Given the description of an element on the screen output the (x, y) to click on. 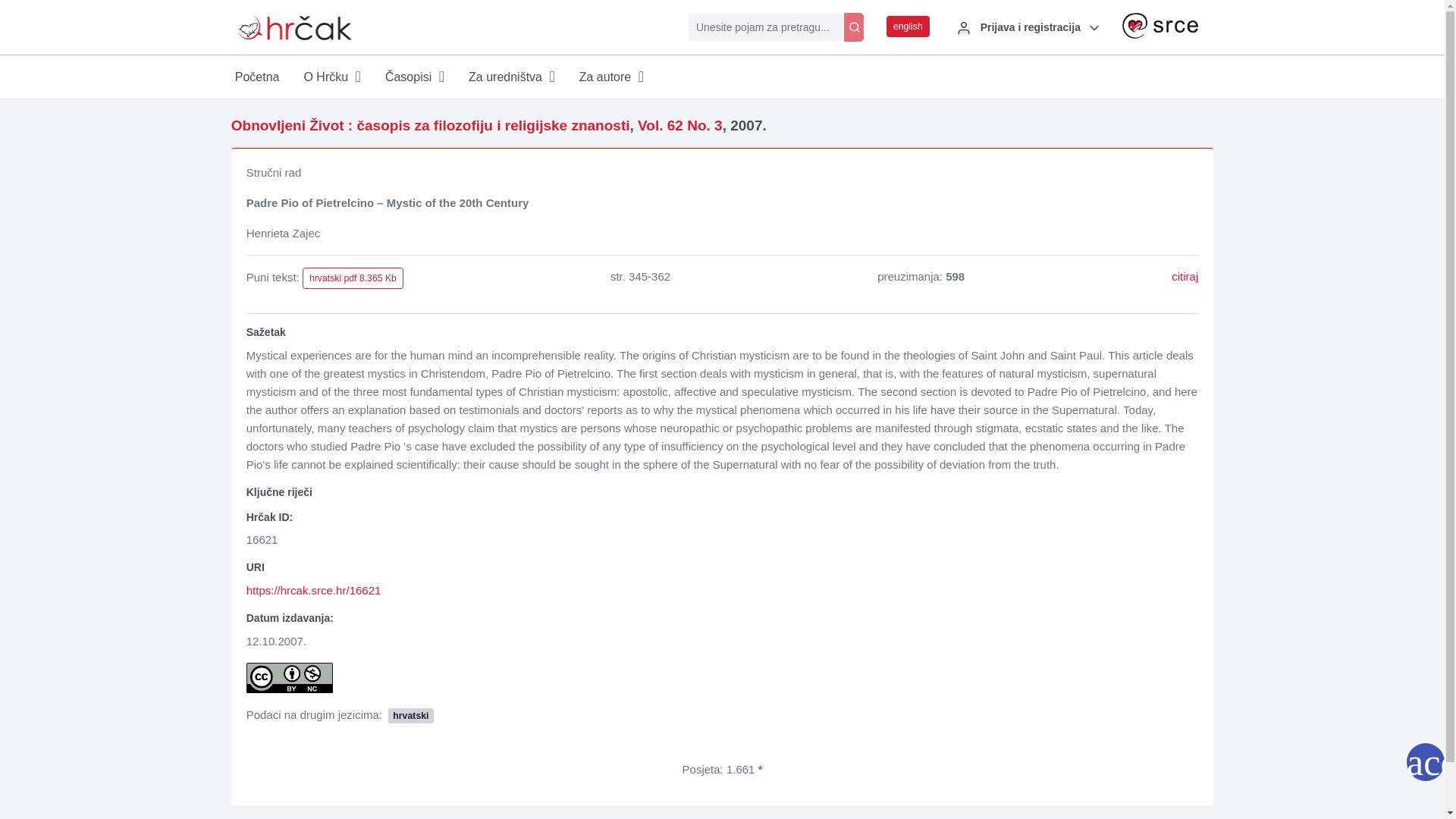
english (908, 25)
Vol. 62 No. 3 (679, 125)
Prijava i registracija (1025, 27)
Za autore (611, 76)
hrvatski pdf 8.365 Kb (352, 278)
hrvatski (410, 714)
citiraj (1185, 276)
